Given the description of an element on the screen output the (x, y) to click on. 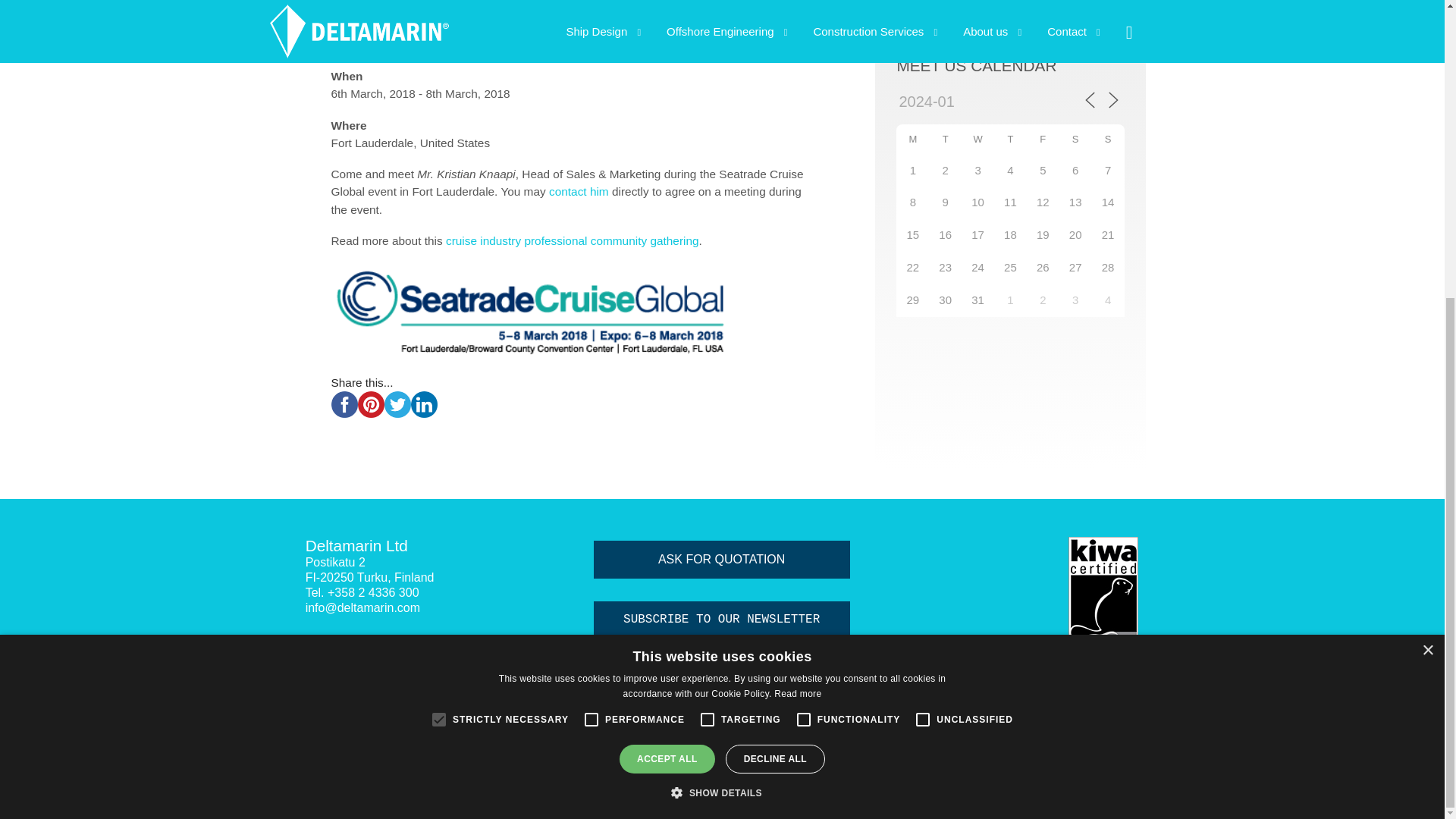
linkedin (424, 404)
2024-01 (963, 102)
Instagram (402, 654)
pinterest (371, 404)
Twitter (345, 654)
RSS (317, 654)
LinkedIn (374, 654)
twitter (397, 404)
facebook (343, 404)
